Given the description of an element on the screen output the (x, y) to click on. 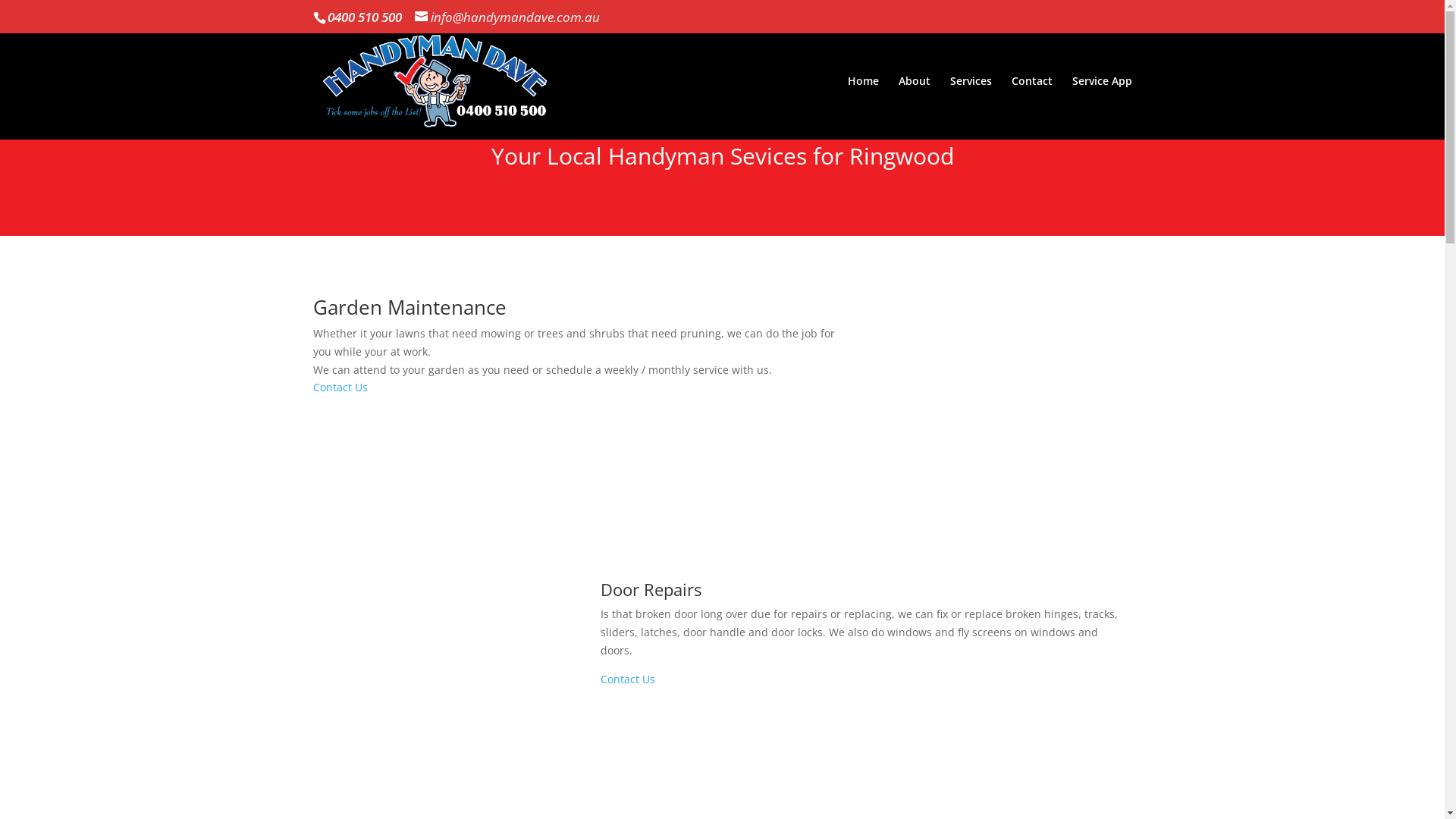
Contact Us  Element type: text (341, 386)
Contact Element type: text (1031, 107)
info@handymandave.com.au Element type: text (506, 16)
Contact Us  Element type: text (629, 678)
About Element type: text (913, 107)
Service App Element type: text (1102, 107)
Services Element type: text (970, 107)
Home Element type: text (862, 107)
